Given the description of an element on the screen output the (x, y) to click on. 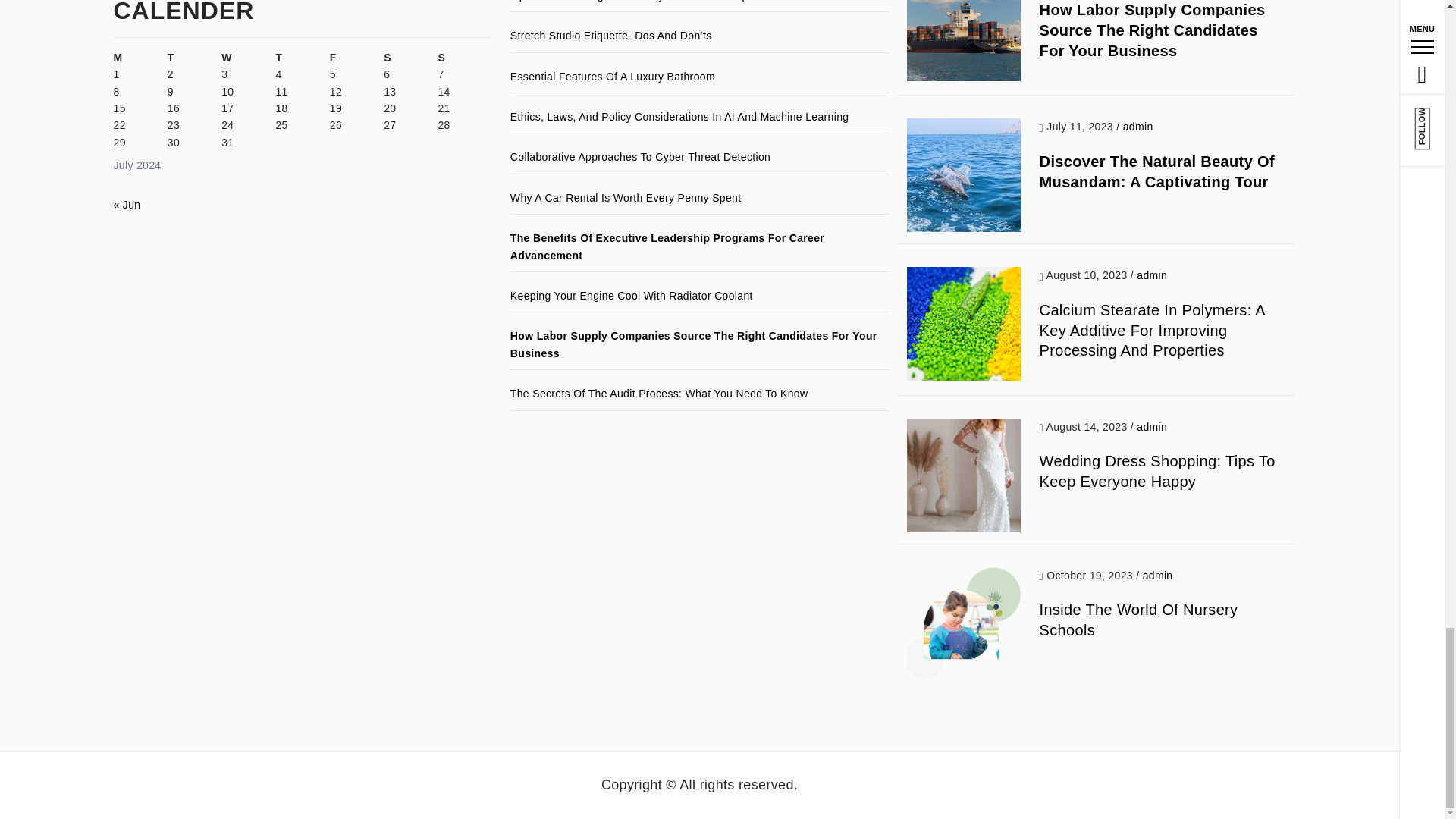
Sunday (465, 57)
Monday (140, 57)
Tuesday (194, 57)
Saturday (411, 57)
Wednesday (248, 57)
Friday (357, 57)
Thursday (302, 57)
